Given the description of an element on the screen output the (x, y) to click on. 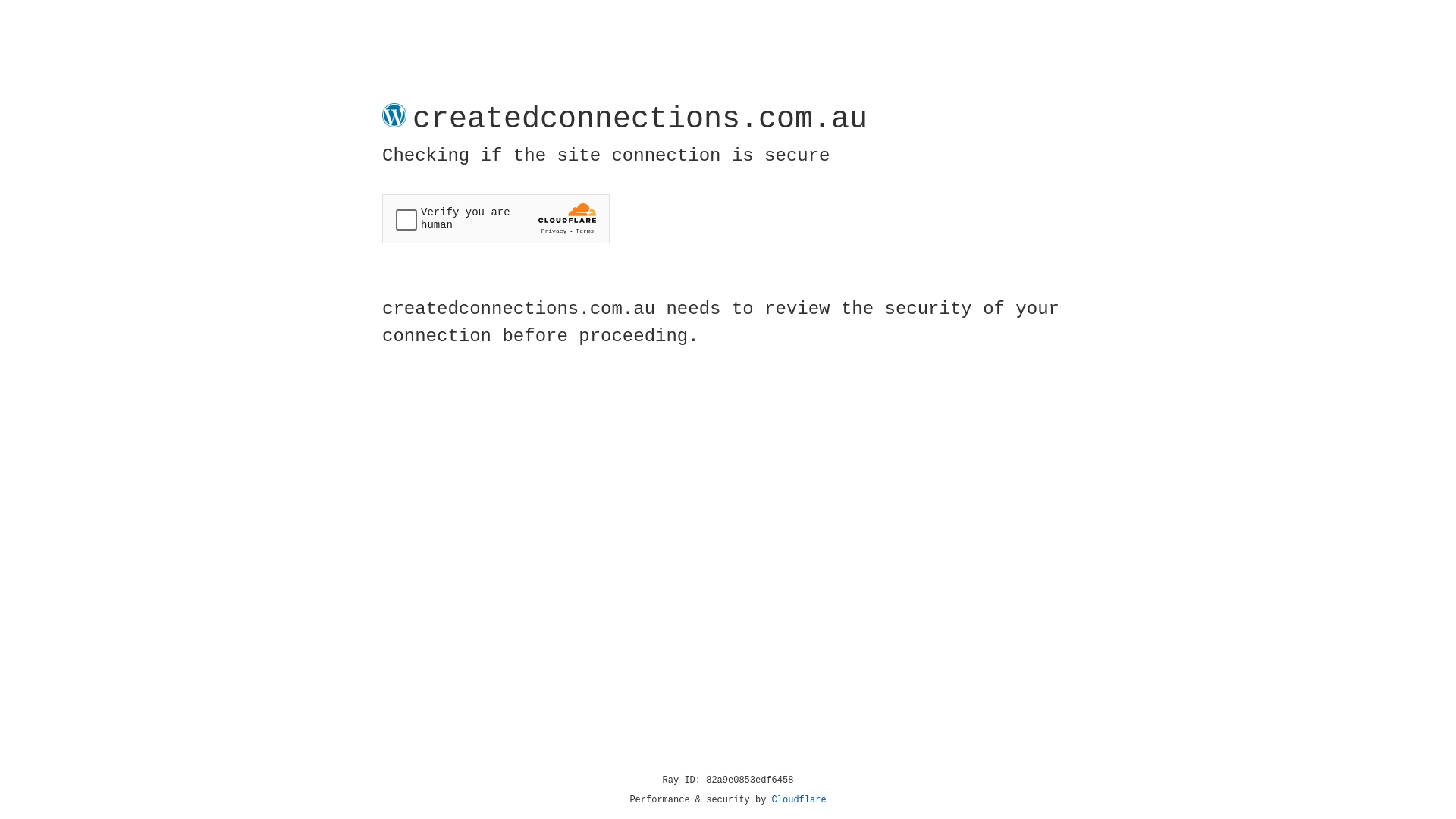
Widget containing a Cloudflare security challenge Element type: hover (495, 218)
Cloudflare Element type: text (798, 799)
